Given the description of an element on the screen output the (x, y) to click on. 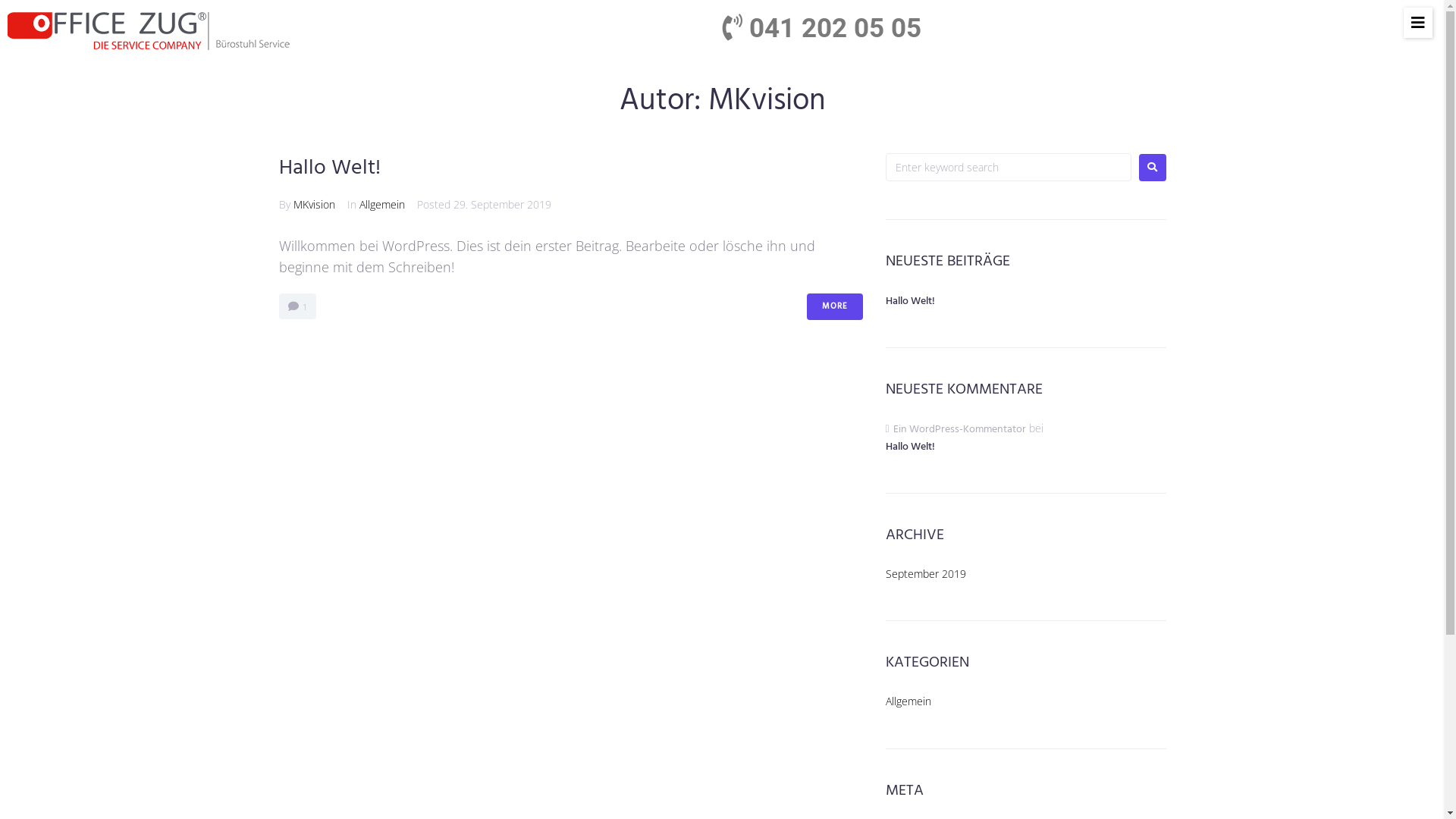
Allgemein Element type: text (908, 700)
Hallo Welt! Element type: text (910, 301)
MORE Element type: text (834, 306)
MKvision Element type: text (313, 204)
September 2019 Element type: text (925, 573)
Hallo Welt! Element type: text (329, 167)
1 Element type: text (297, 306)
Hallo Welt! Element type: text (1025, 455)
Ein WordPress-Kommentator Element type: text (959, 429)
Allgemein Element type: text (381, 204)
